Given the description of an element on the screen output the (x, y) to click on. 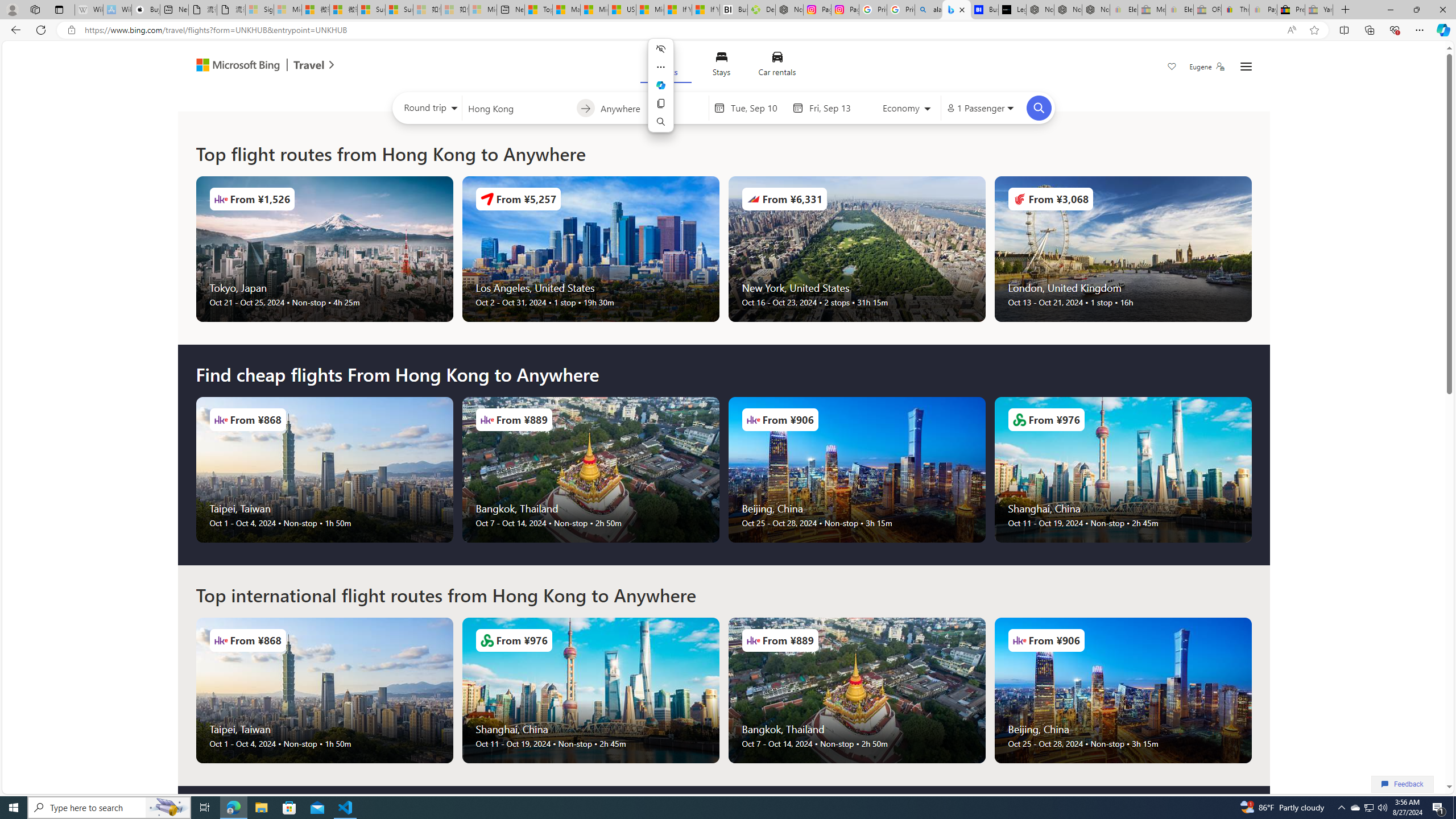
Save (1171, 67)
Flights (665, 65)
Select trip type (428, 110)
Select class of service (906, 109)
Yard, Garden & Outdoor Living - Sleeping (1319, 9)
